Given the description of an element on the screen output the (x, y) to click on. 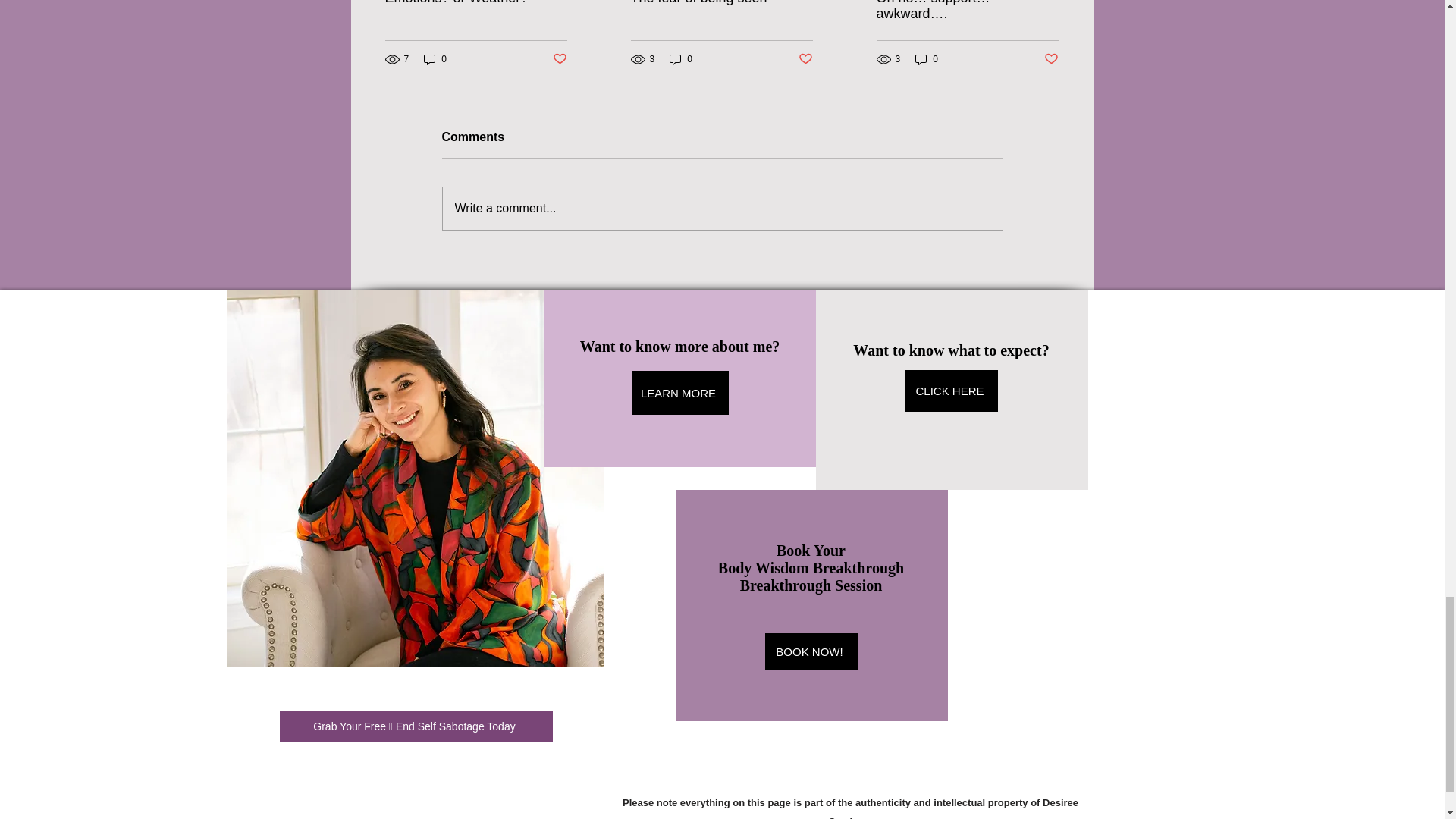
The fear of being seen (721, 2)
Emotions? or Weather? (476, 2)
Post not marked as liked (558, 59)
0 (435, 58)
